Given the description of an element on the screen output the (x, y) to click on. 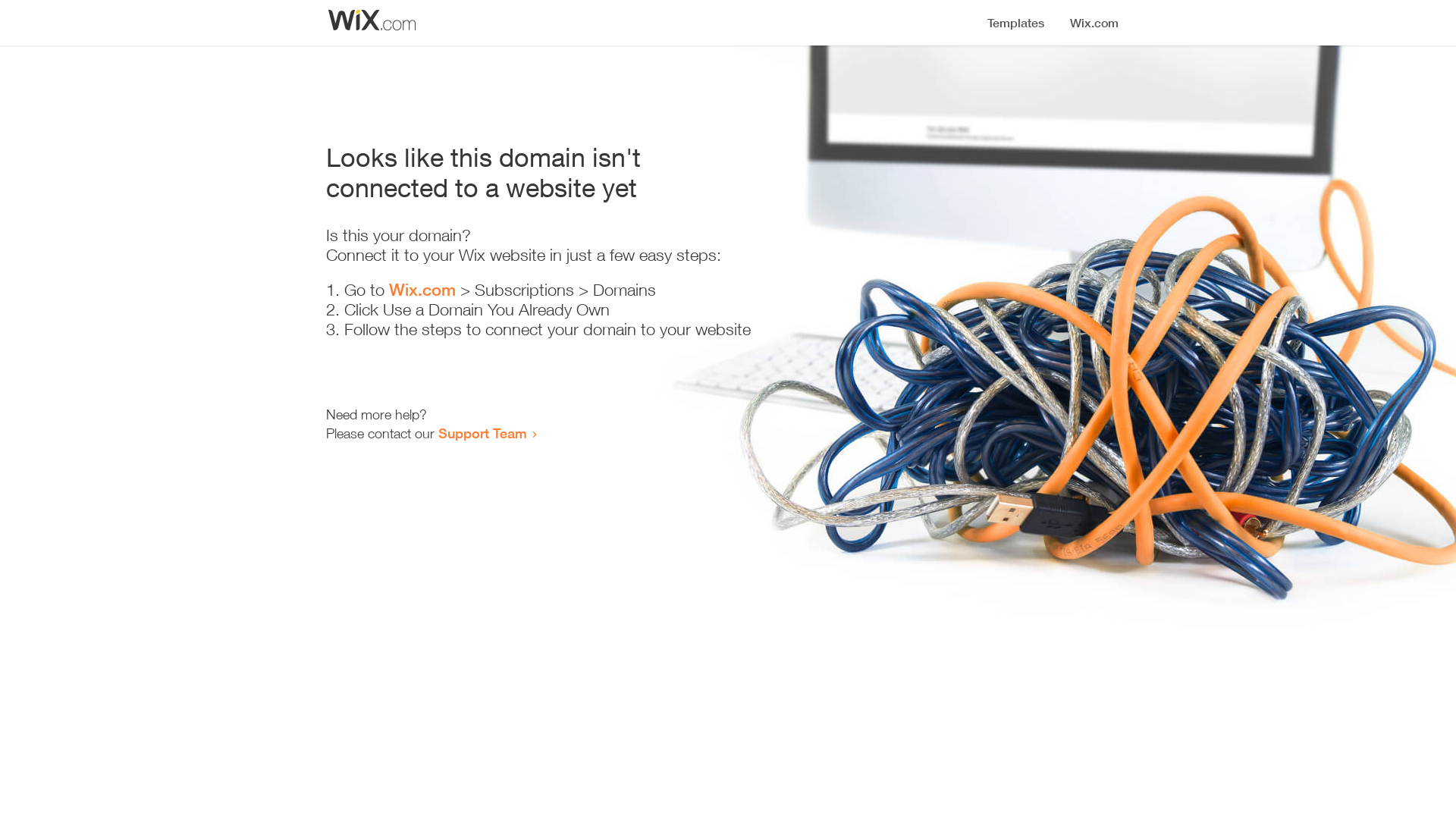
Wix.com Element type: text (422, 289)
Support Team Element type: text (482, 432)
